Given the description of an element on the screen output the (x, y) to click on. 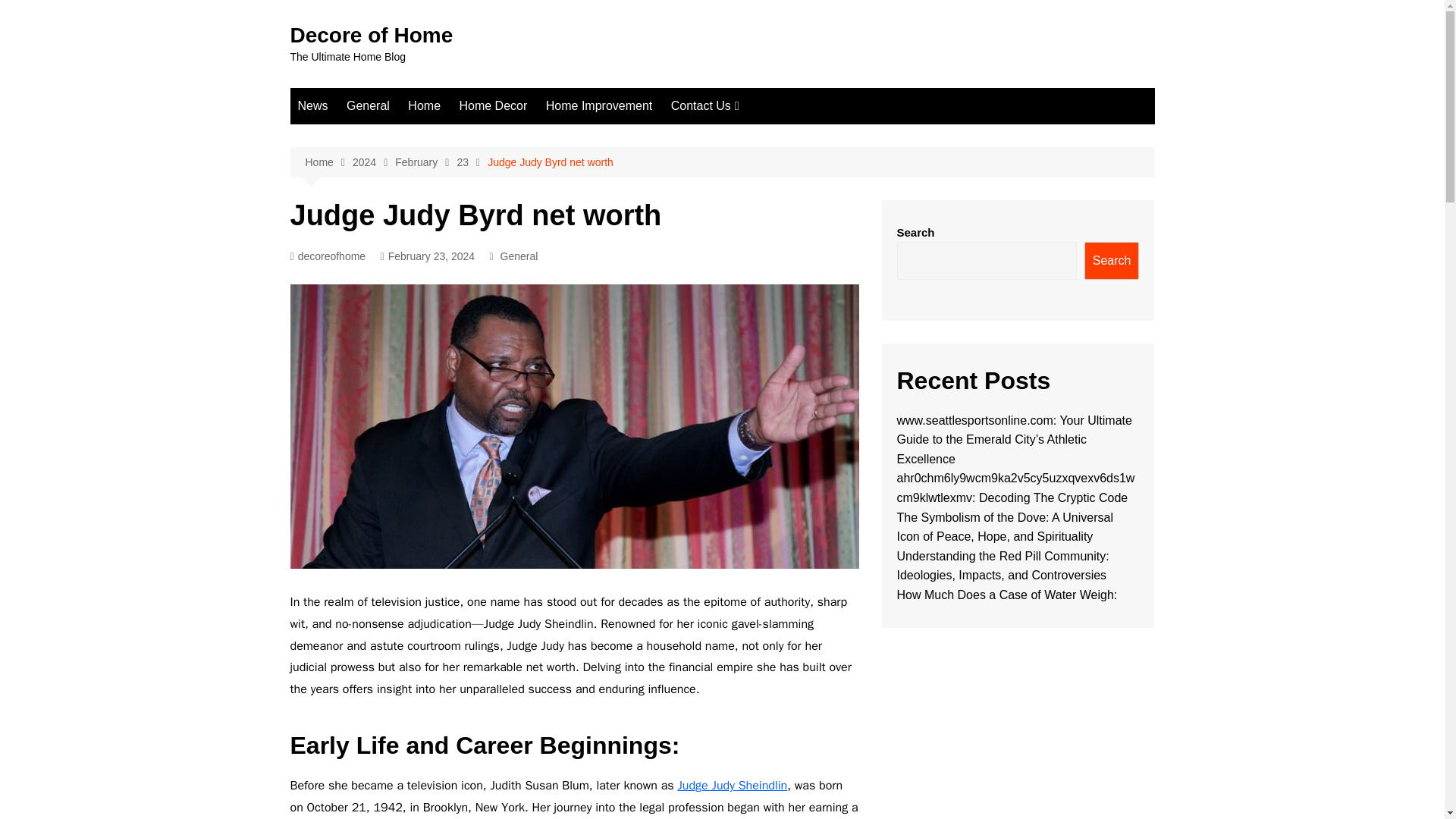
decoreofhome (327, 256)
News (311, 105)
Home Decor (492, 105)
Home (424, 105)
DISCLAIMER (746, 249)
2024 (373, 162)
February (425, 162)
Write For Us (746, 161)
About Us (746, 136)
General (519, 256)
